Given the description of an element on the screen output the (x, y) to click on. 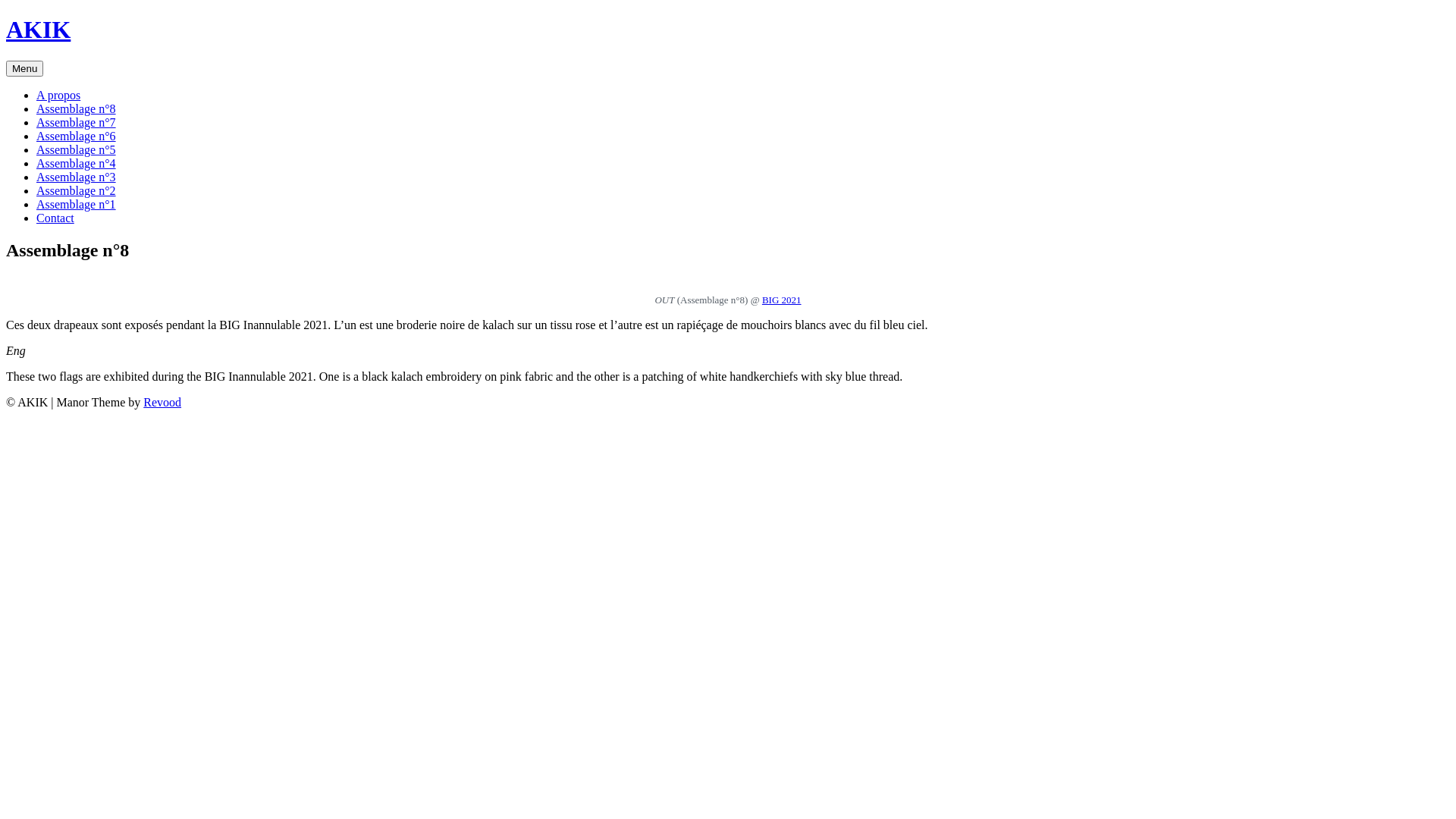
AKIK Element type: text (38, 29)
Menu Element type: text (24, 68)
A propos Element type: text (58, 94)
Contact Element type: text (55, 217)
Revood Element type: text (162, 401)
BIG 2021 Element type: text (781, 299)
